Given the description of an element on the screen output the (x, y) to click on. 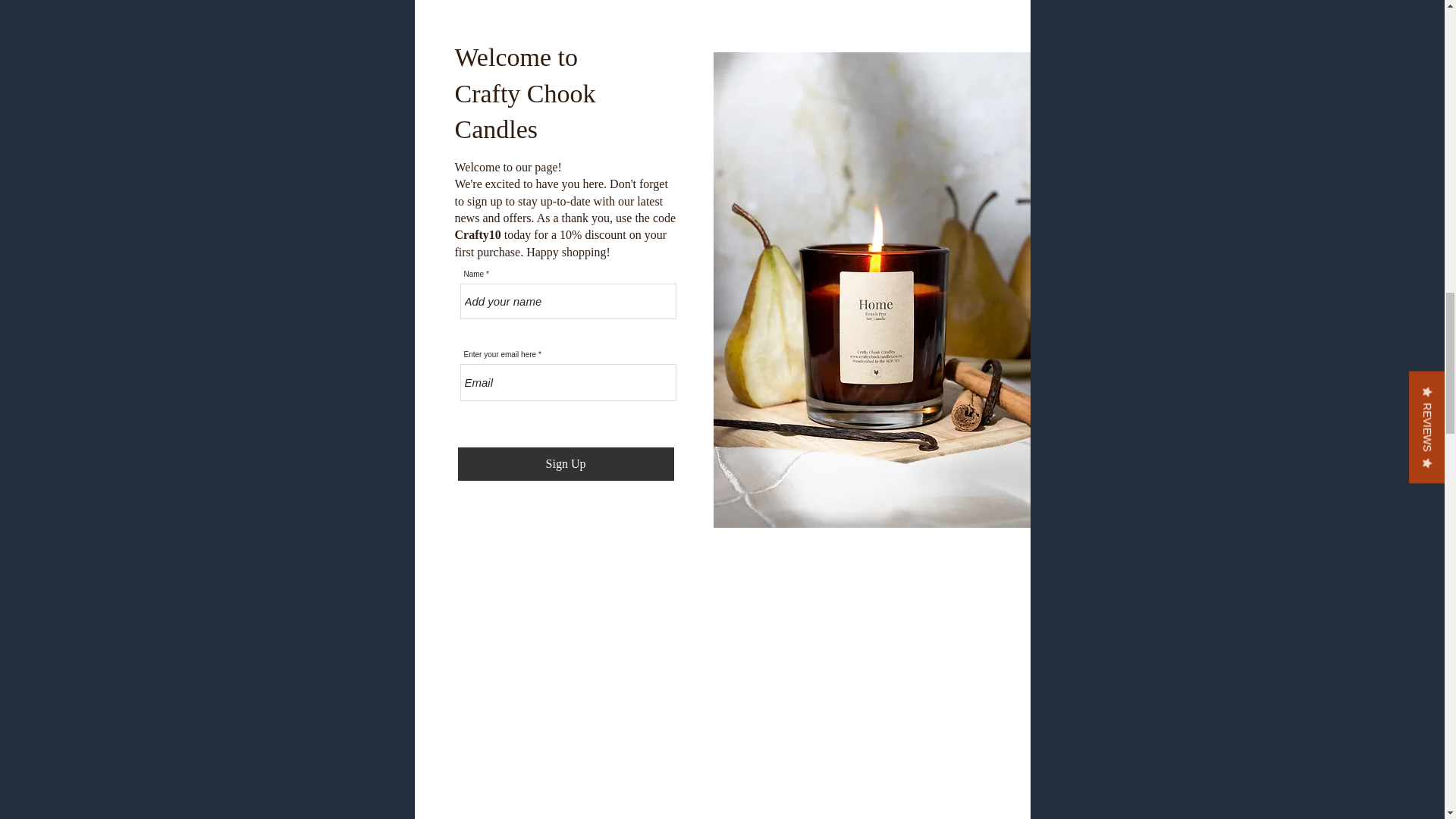
Coffee Cups (808, 320)
The Locals (634, 320)
The Favourites (460, 320)
Gift Box (983, 320)
